Given the description of an element on the screen output the (x, y) to click on. 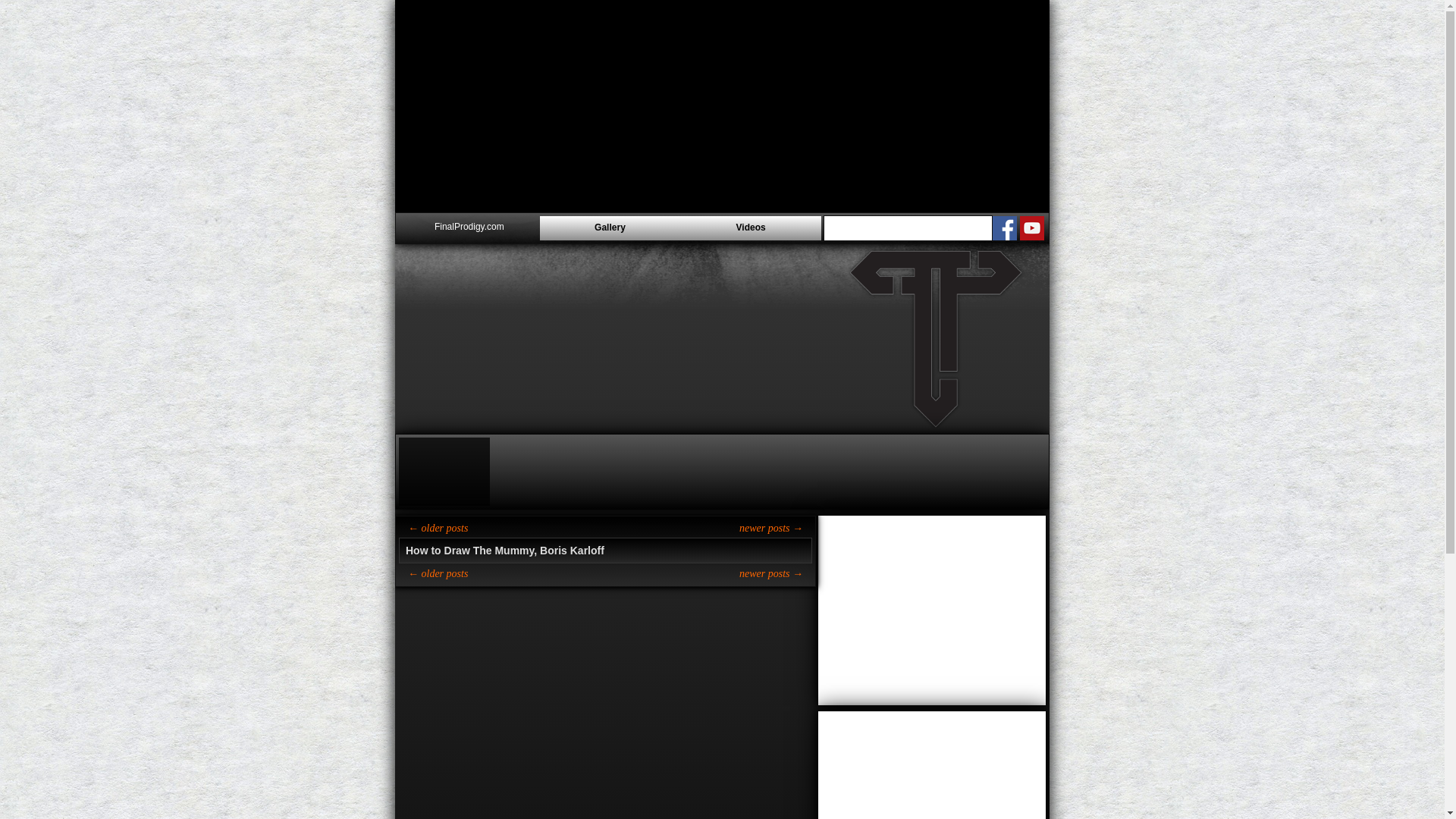
Gallery (610, 228)
Videos (750, 228)
FinalProdigy.com (469, 228)
How to Draw The Mummy, Boris Karloff (604, 550)
Read How to Draw The Mummy, Boris Karloff (604, 550)
